Given the description of an element on the screen output the (x, y) to click on. 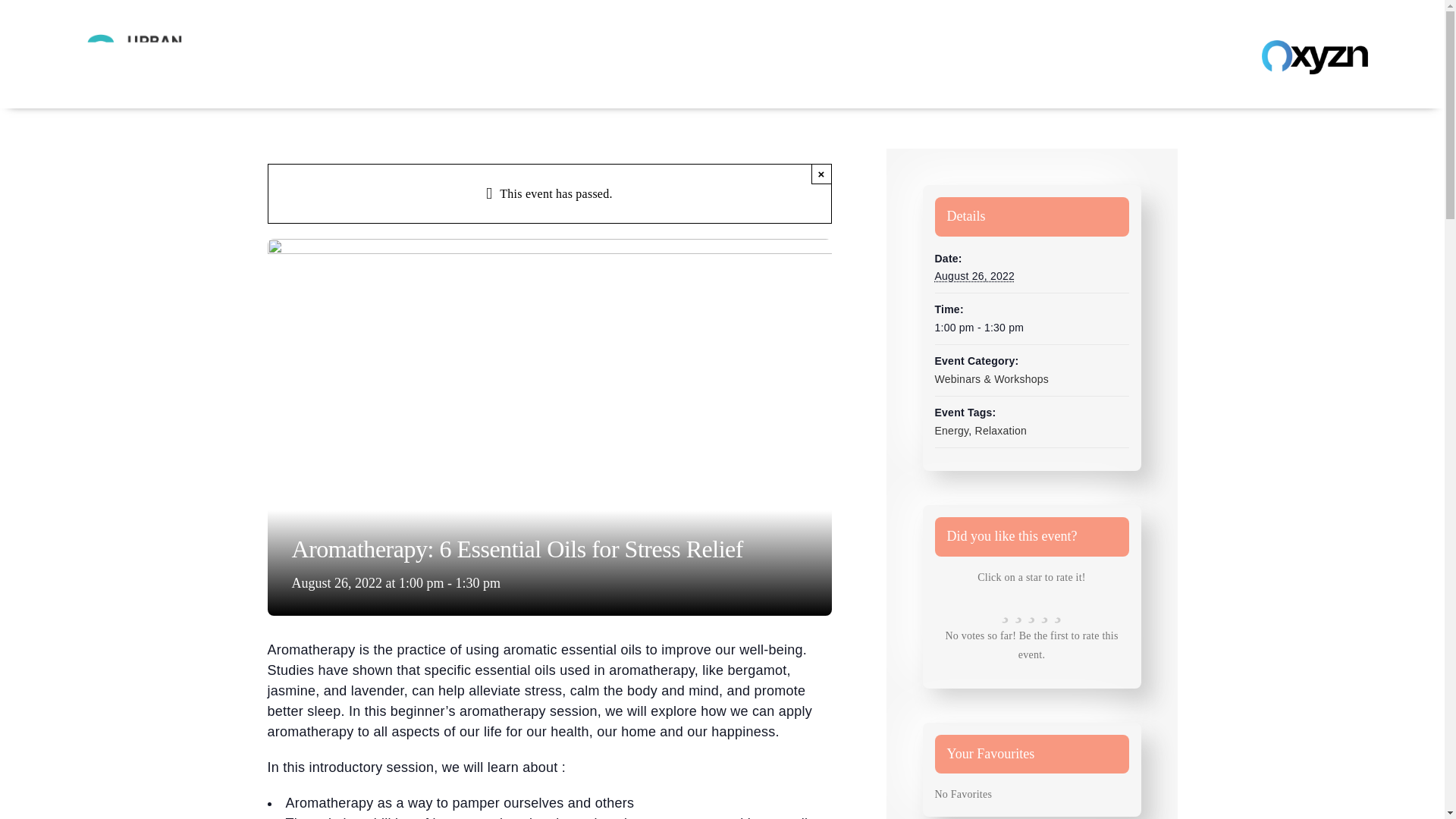
Energy (951, 430)
oxyzn-logo (1315, 57)
2022-08-26 (974, 275)
2022-08-26 (1031, 327)
